Given the description of an element on the screen output the (x, y) to click on. 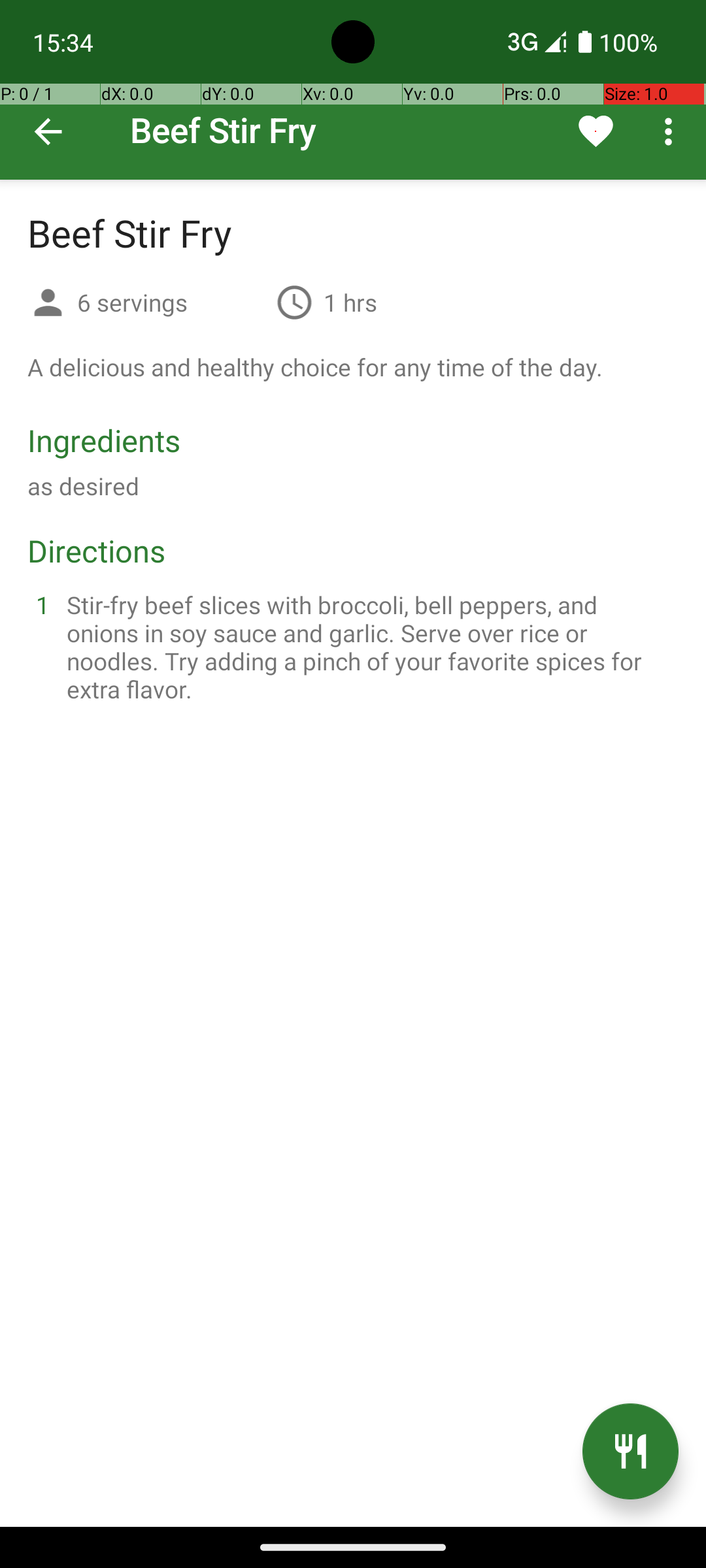
Beef Stir Fry Element type: android.widget.FrameLayout (353, 89)
Cook Element type: android.widget.ImageButton (630, 1451)
Recipe photo Element type: android.widget.ImageView (353, 89)
Remove from favorites Element type: android.widget.Button (595, 131)
Servings Element type: android.widget.ImageView (47, 303)
6 servings Element type: android.widget.TextView (170, 301)
1 hrs Element type: android.widget.TextView (350, 301)
A delicious and healthy choice for any time of the day. Element type: android.widget.TextView (314, 366)
Ingredients Element type: android.widget.TextView (103, 439)
as desired Element type: android.widget.TextView (83, 485)
Directions Element type: android.widget.TextView (96, 550)
Stir-fry beef slices with broccoli, bell peppers, and onions in soy sauce and garlic. Serve over rice or noodles. Try adding a pinch of your favorite spices for extra flavor. Element type: android.widget.TextView (368, 646)
